Given the description of an element on the screen output the (x, y) to click on. 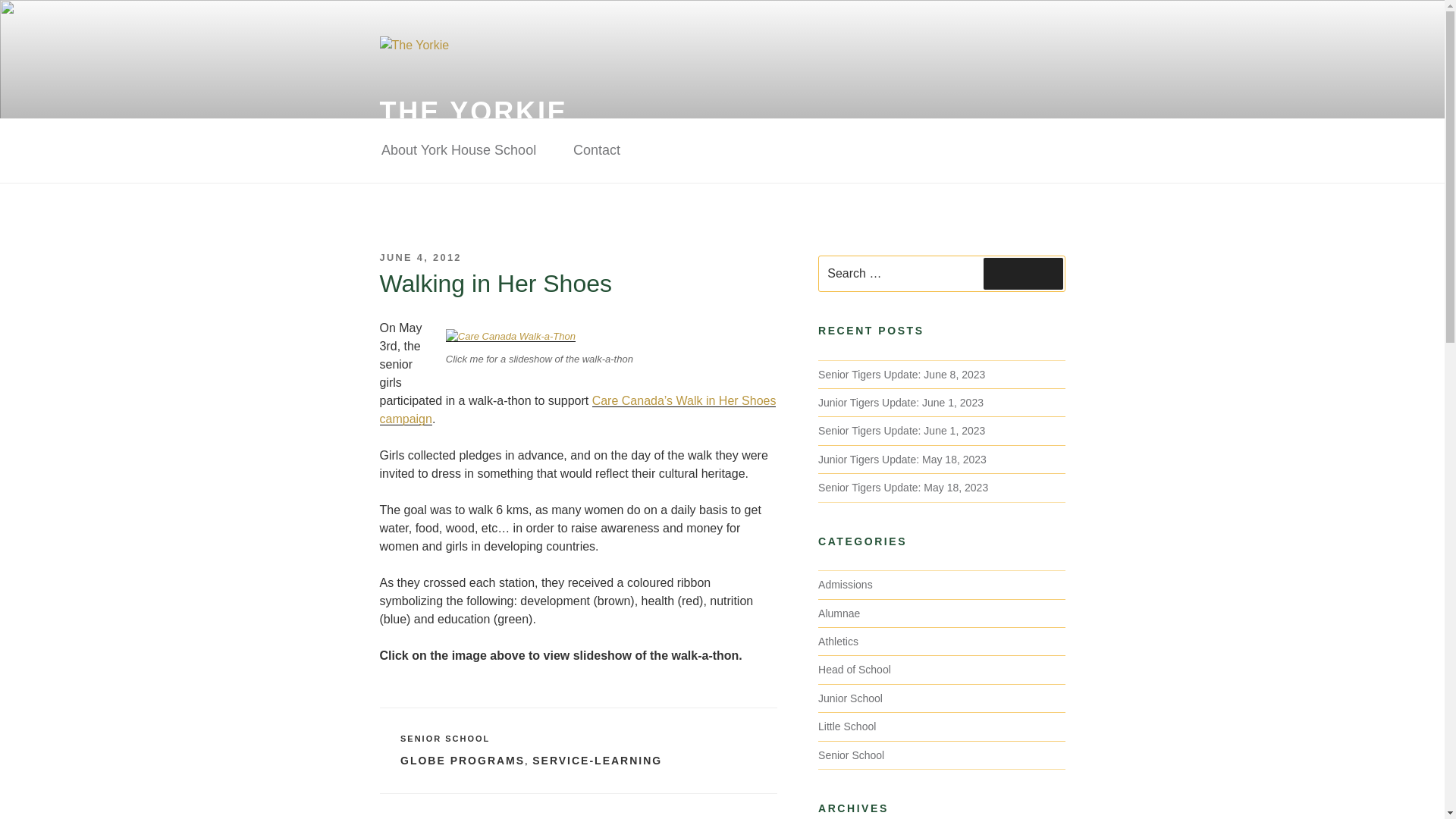
SENIOR SCHOOL (444, 737)
Contact (596, 150)
Junior Tigers Update: May 18, 2023 (902, 459)
GLOBE PROGRAMS (462, 760)
Athletics (838, 641)
Senior School (850, 755)
About York House School (458, 150)
Care Canada Walk-a-Thon (510, 336)
Senior Tigers Update: May 18, 2023 (903, 487)
THE YORKIE (472, 111)
SERVICE-LEARNING (597, 760)
JUNE 4, 2012 (419, 256)
Senior Tigers Update: June 1, 2023 (901, 430)
Senior Tigers Update: June 8, 2023 (901, 374)
Little School (847, 726)
